Given the description of an element on the screen output the (x, y) to click on. 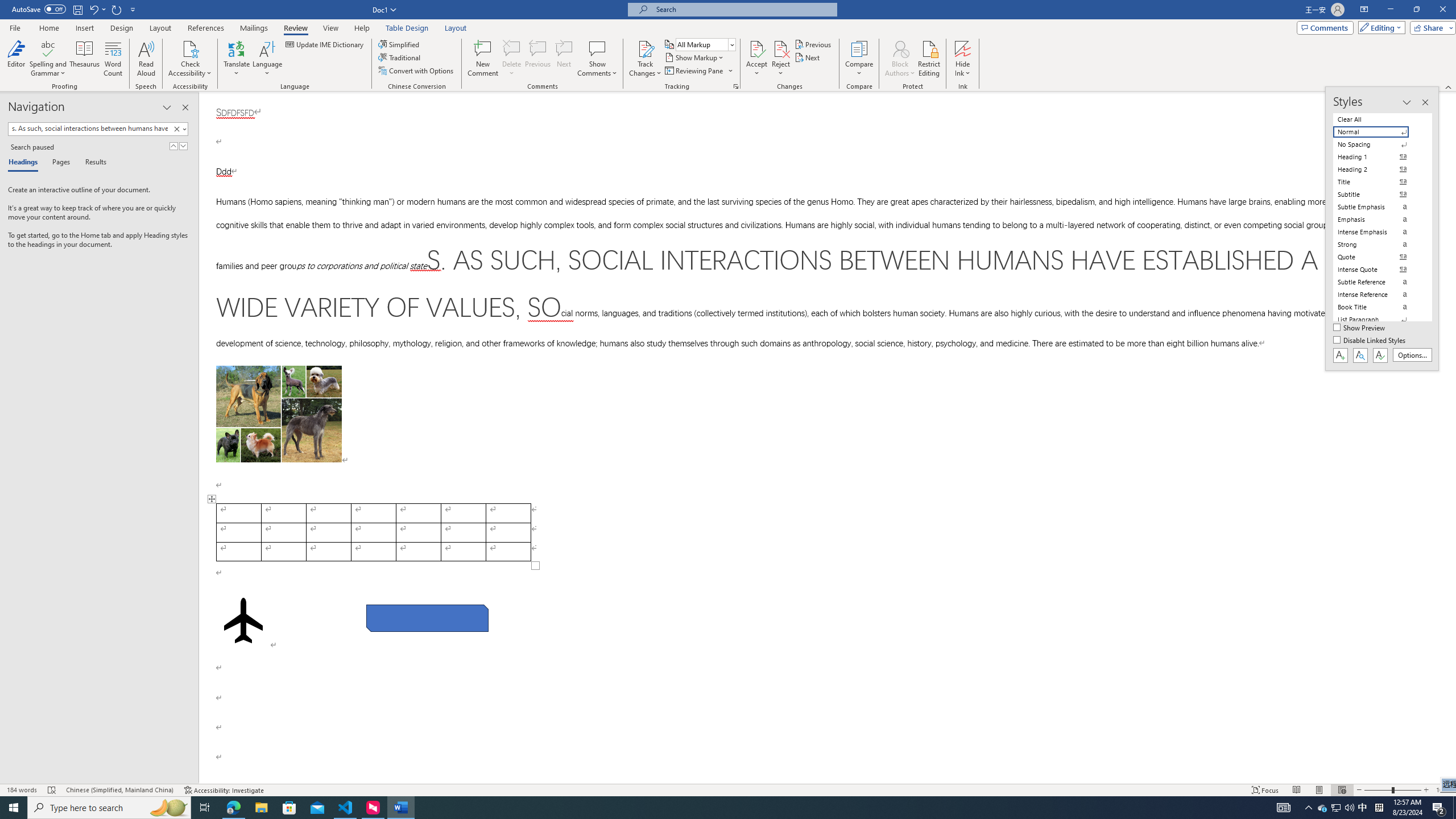
Intense Emphasis (1377, 232)
Accept and Move to Next (756, 48)
Change Tracking Options... (735, 85)
Word Count (113, 58)
Accept (756, 58)
Emphasis (1377, 219)
Reject and Move to Next (780, 48)
List Paragraph (1377, 319)
Show Preview (1360, 328)
